Given the description of an element on the screen output the (x, y) to click on. 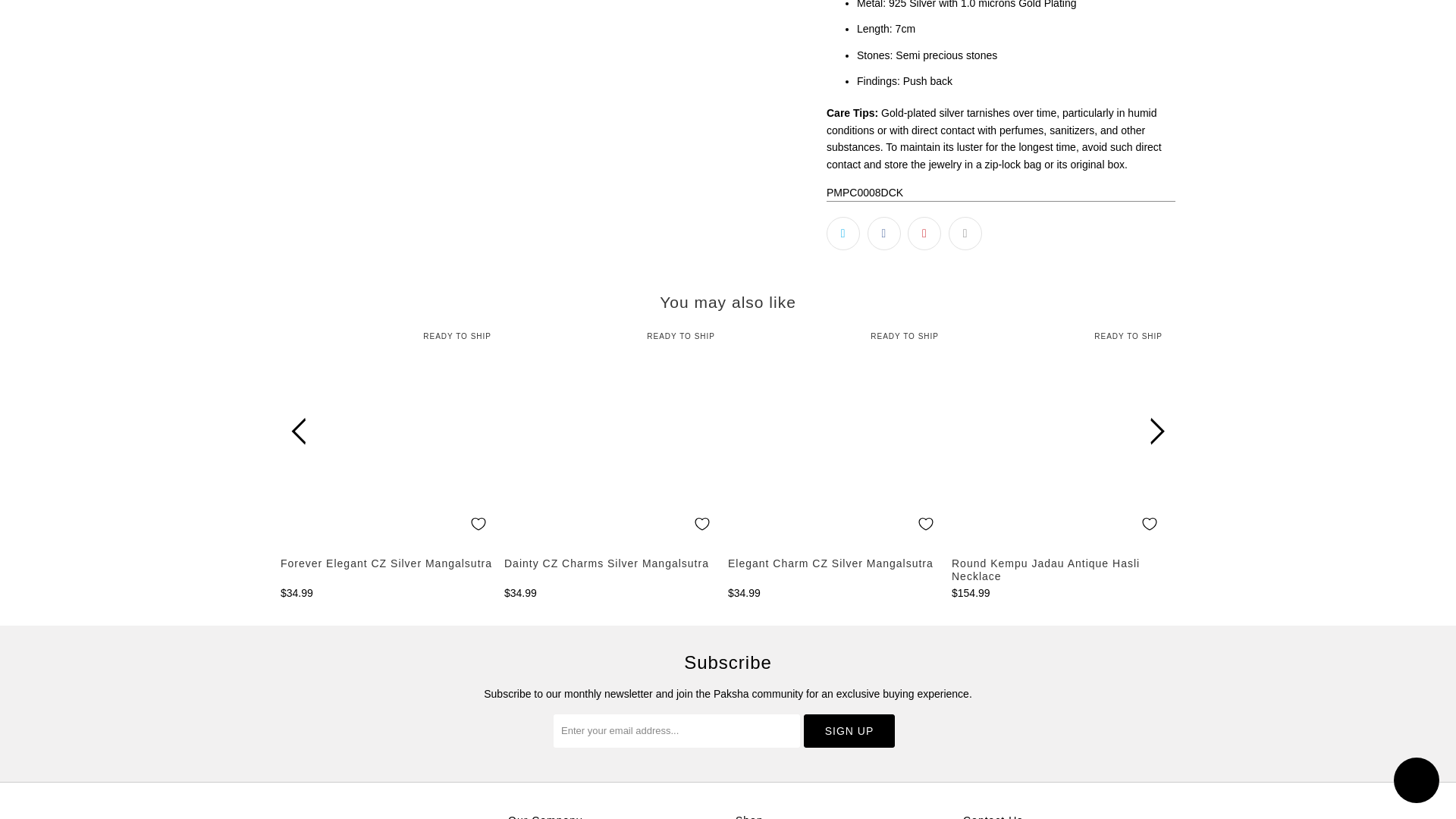
Email this to a friend (965, 233)
Share this on Facebook (884, 233)
Sign Up (849, 730)
Share this on Pinterest (923, 233)
Share this on Twitter (843, 233)
